Given the description of an element on the screen output the (x, y) to click on. 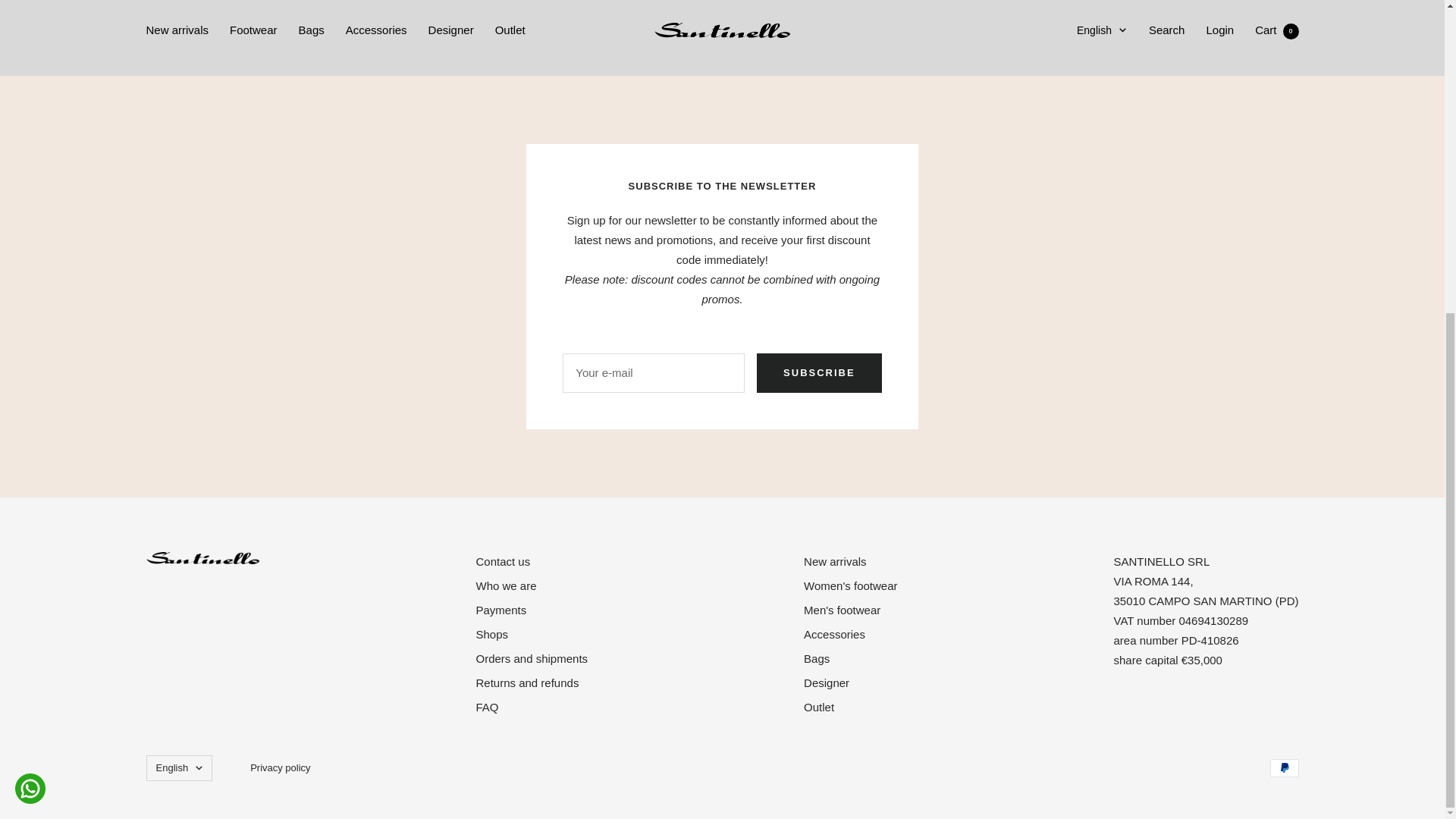
New arrivals (834, 561)
SUBSCRIBE (819, 372)
Contact us (502, 561)
Who we are (505, 586)
Women's footwear (849, 586)
FAQ (486, 707)
Returns and refunds (527, 682)
Bags (816, 659)
Men's footwear (841, 609)
Shops (492, 634)
